Given the description of an element on the screen output the (x, y) to click on. 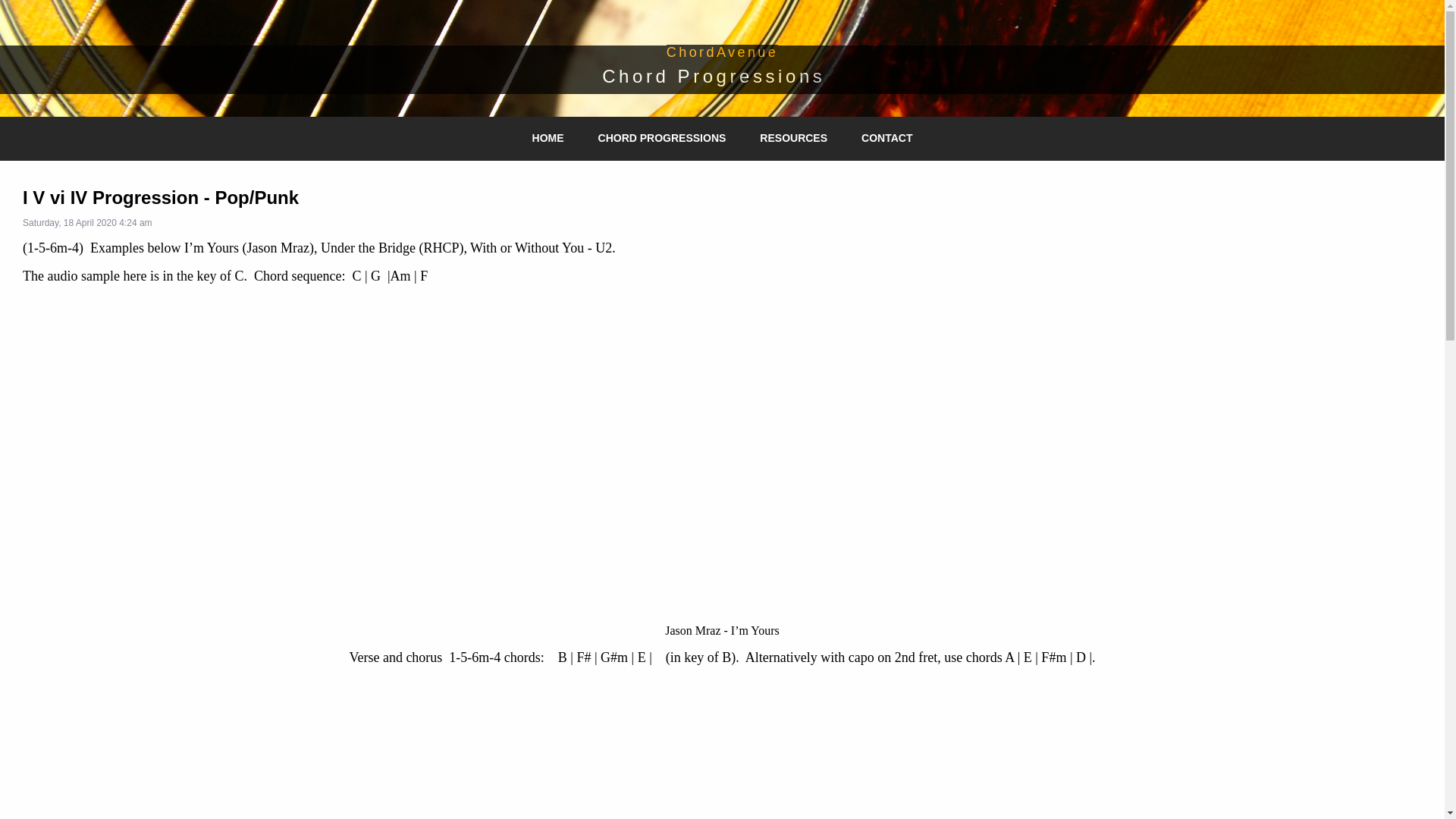
CHORD PROGRESSIONS Element type: text (662, 138)
CONTACT Element type: text (886, 138)
HOME Element type: text (547, 138)
RESOURCES Element type: text (793, 138)
